Given the description of an element on the screen output the (x, y) to click on. 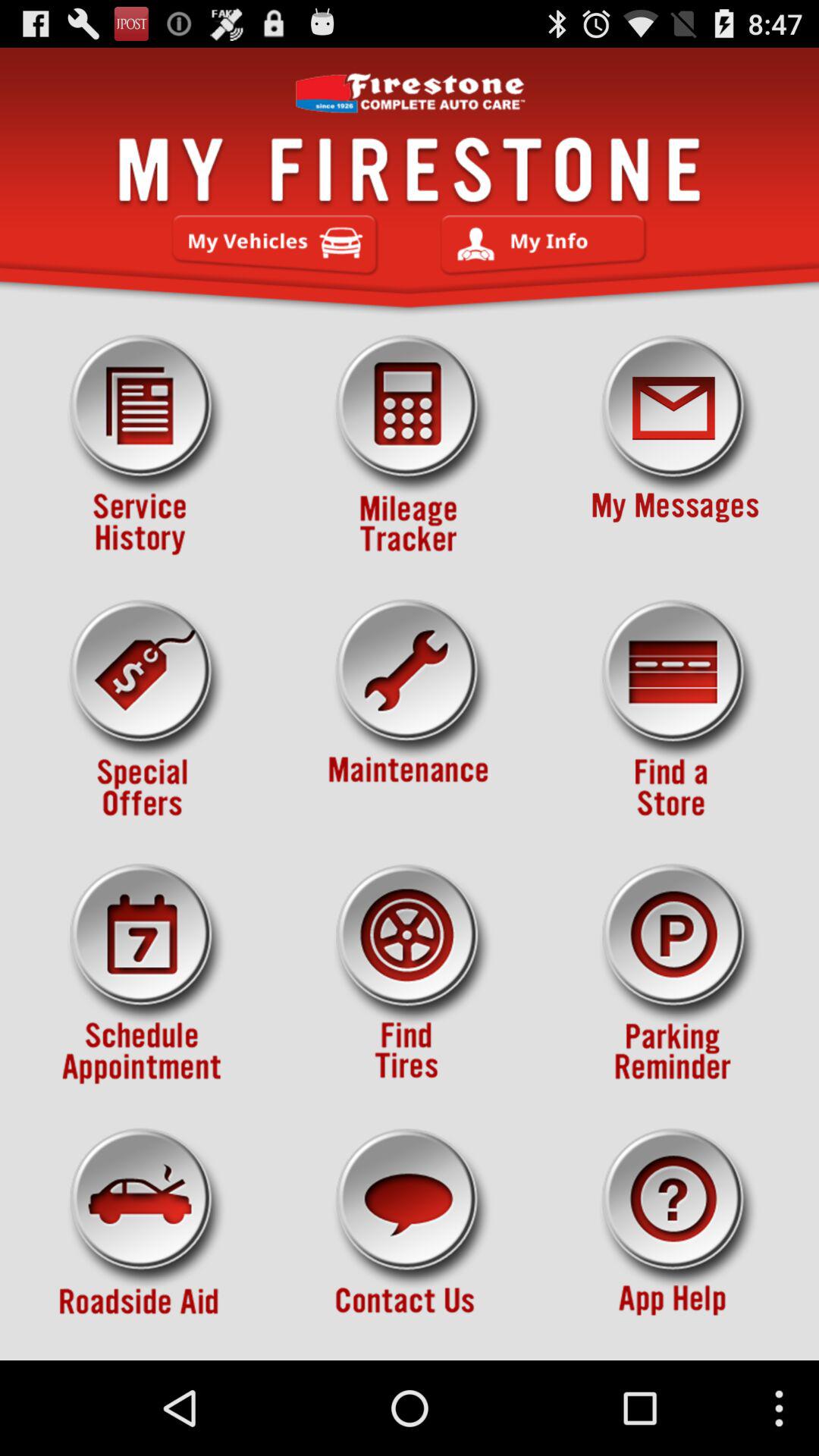
choose icon at the top left corner (143, 445)
